Given the description of an element on the screen output the (x, y) to click on. 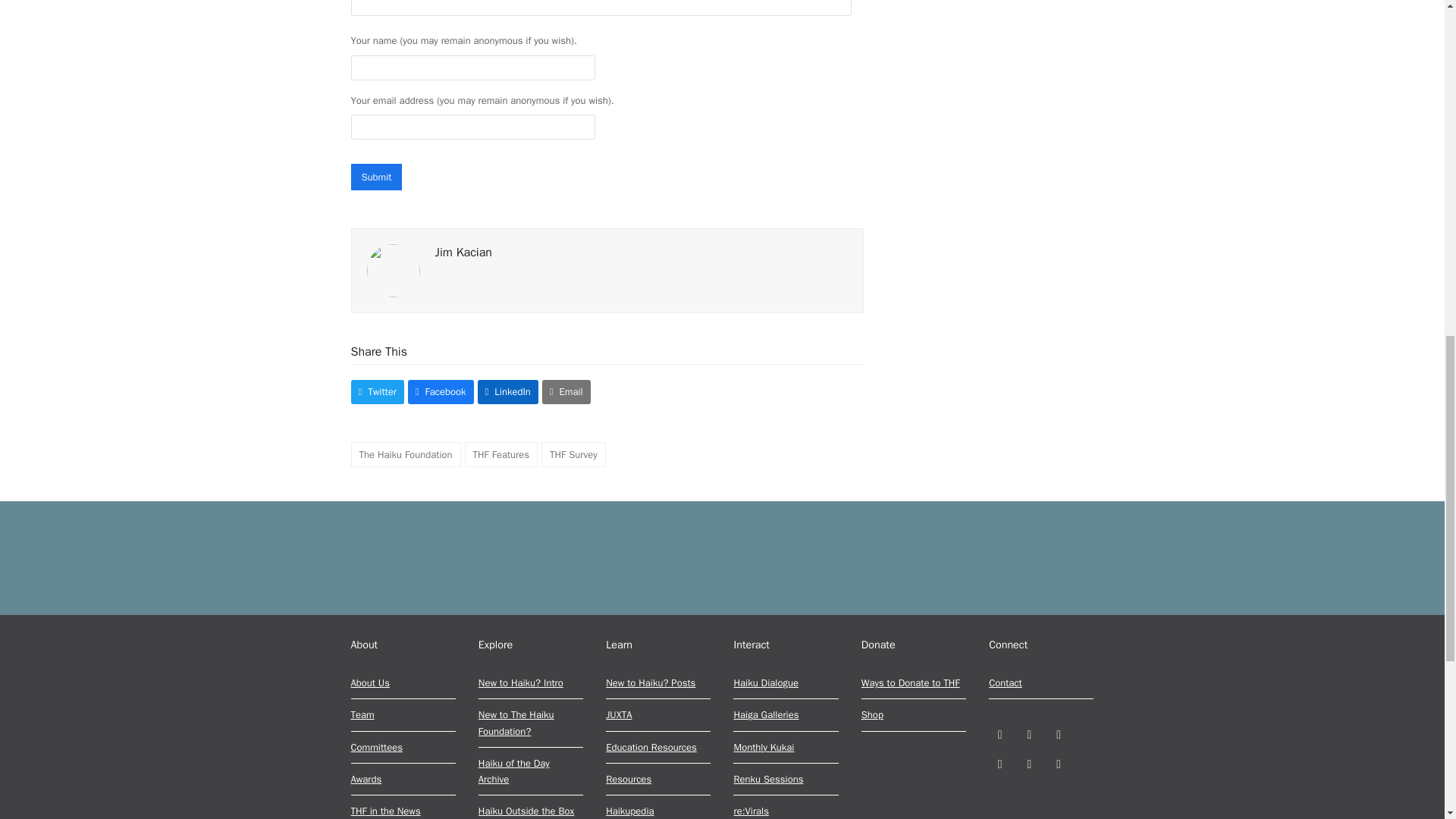
Visit Author Page (463, 252)
Facebook (1029, 734)
YouTube (1029, 763)
Tiktok (1059, 763)
Visit Author Page (393, 269)
Pinterest (999, 763)
Twitter (999, 734)
Submit (375, 176)
Instagram (1059, 734)
